Given the description of an element on the screen output the (x, y) to click on. 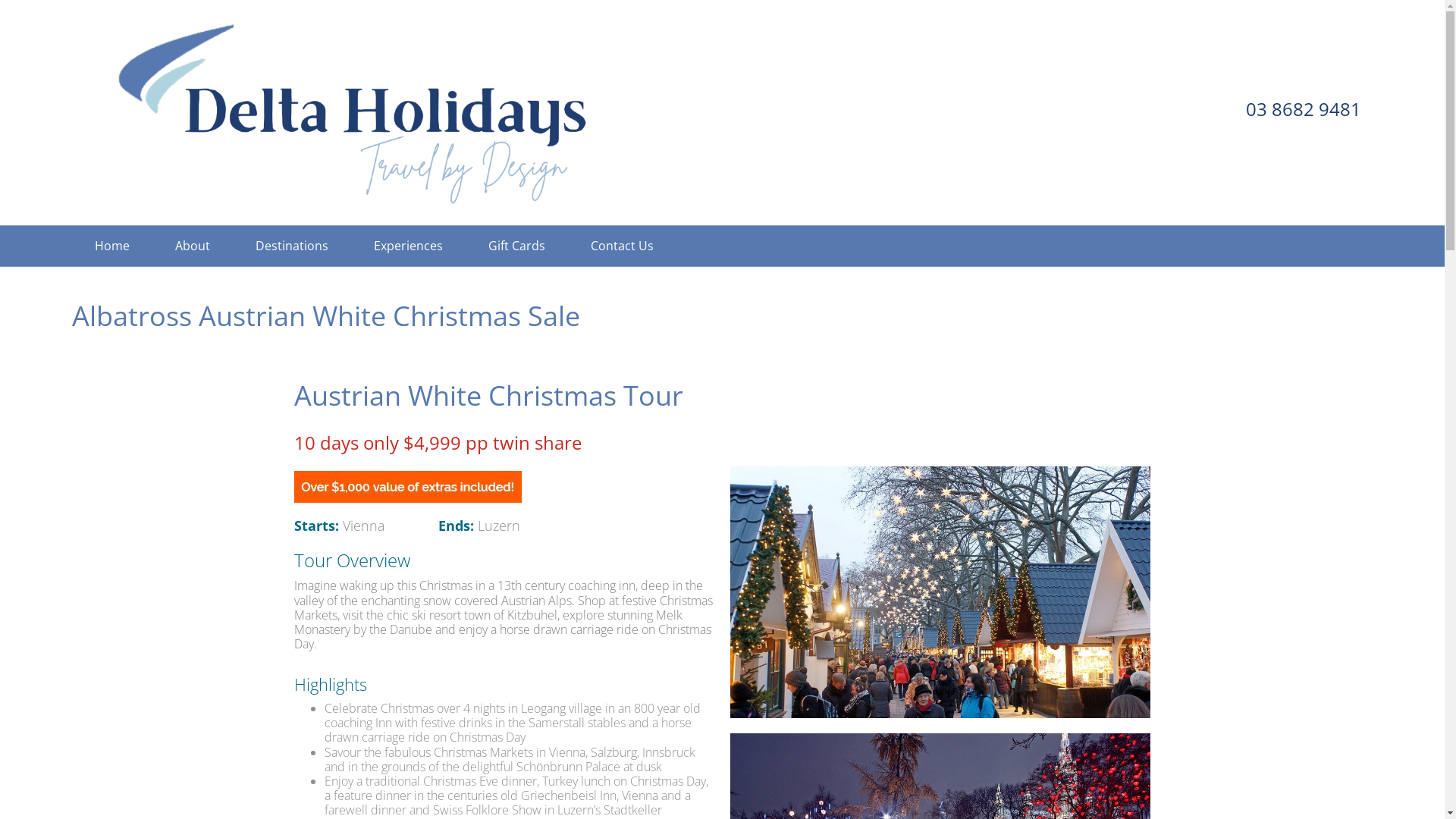
Albatross Over $1000 value extras included caption #2 Element type: hover (407, 486)
Christmas Market lights star 1 Element type: hover (939, 592)
Destinations Element type: text (291, 245)
03 8682 9481 Element type: text (1303, 108)
Gift Cards Element type: text (516, 245)
Home Element type: text (112, 245)
Experiences Element type: text (408, 245)
About Element type: text (192, 245)
Contact Us Element type: text (621, 245)
